Given the description of an element on the screen output the (x, y) to click on. 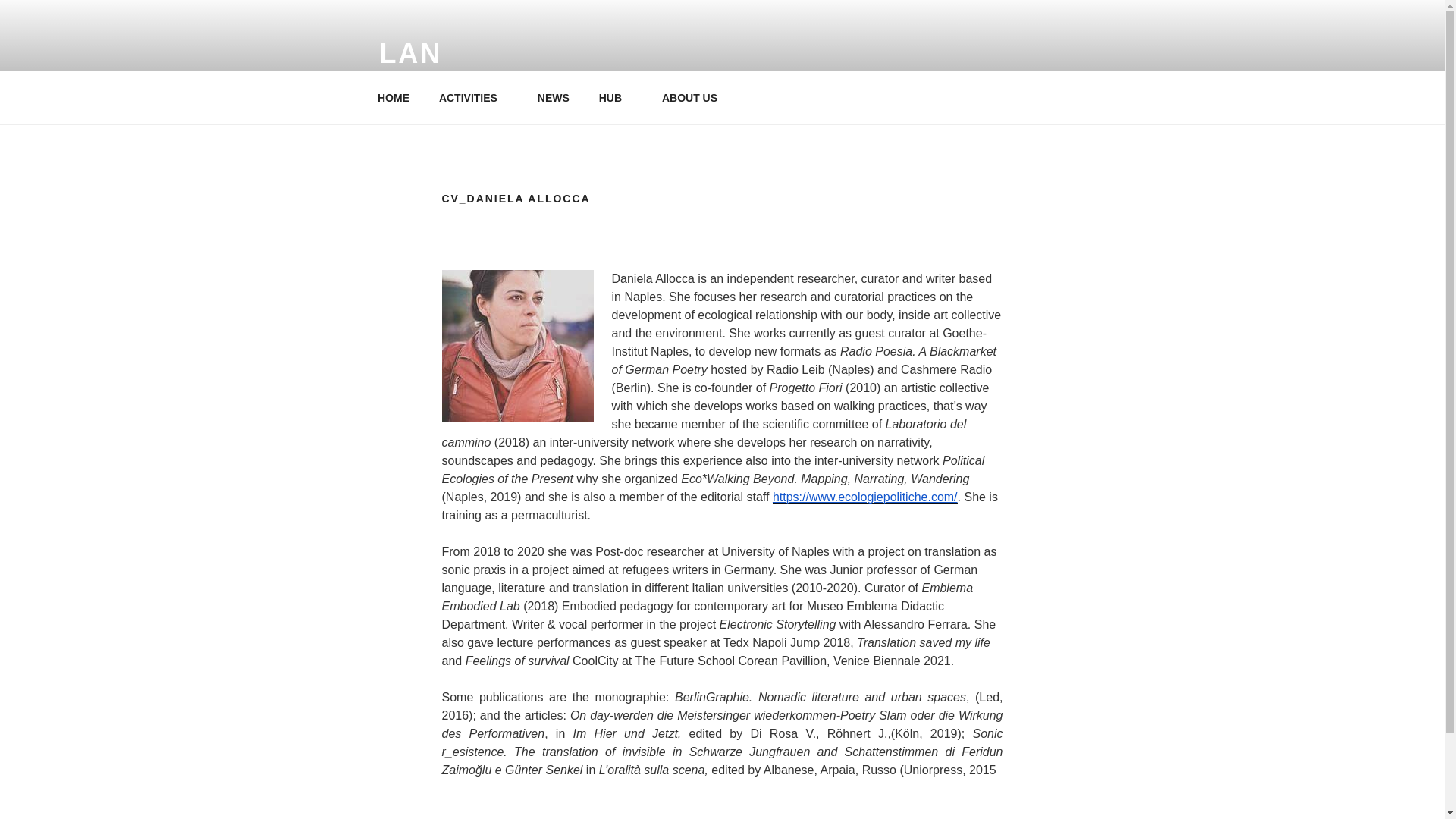
HUB (615, 97)
HOME (393, 97)
LAN (410, 52)
NEWS (553, 97)
ACTIVITIES (473, 97)
